Given the description of an element on the screen output the (x, y) to click on. 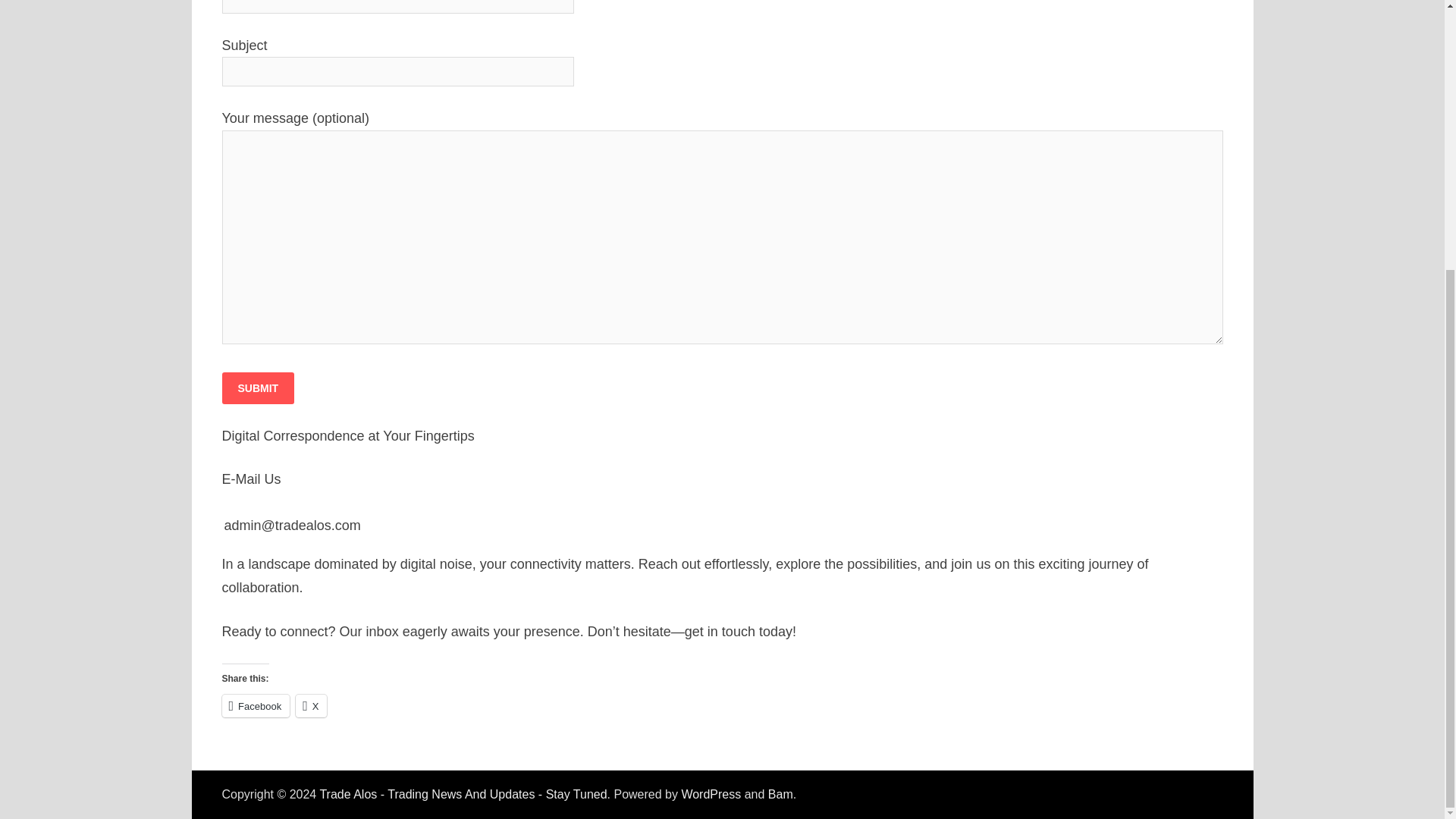
Trade Alos - Trading News And Updates - Stay Tuned (462, 793)
X (310, 704)
Bam (780, 793)
Submit (257, 388)
Submit (257, 388)
Facebook (255, 704)
Click to share on Facebook (255, 704)
Click to share on X (310, 704)
WordPress (711, 793)
Trade Alos - Trading News And Updates - Stay Tuned (462, 793)
